Given the description of an element on the screen output the (x, y) to click on. 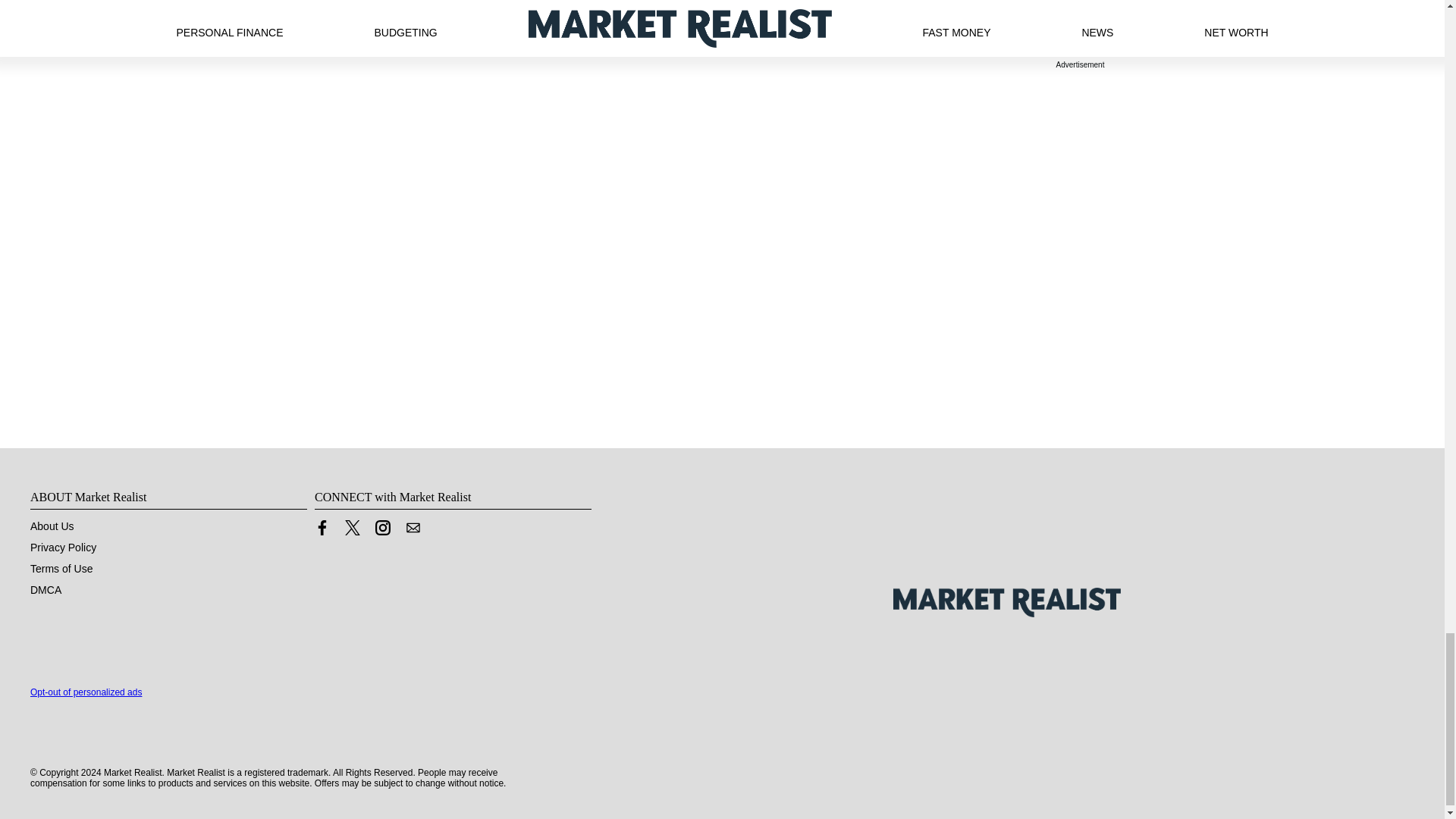
Contact us by Email (413, 531)
Link to Instagram (382, 531)
Link to X (352, 531)
DMCA (45, 589)
DMCA (45, 589)
Opt-out of personalized ads (85, 692)
Terms of Use (61, 568)
Privacy Policy (63, 547)
Privacy Policy (63, 547)
About Us (52, 526)
